Given the description of an element on the screen output the (x, y) to click on. 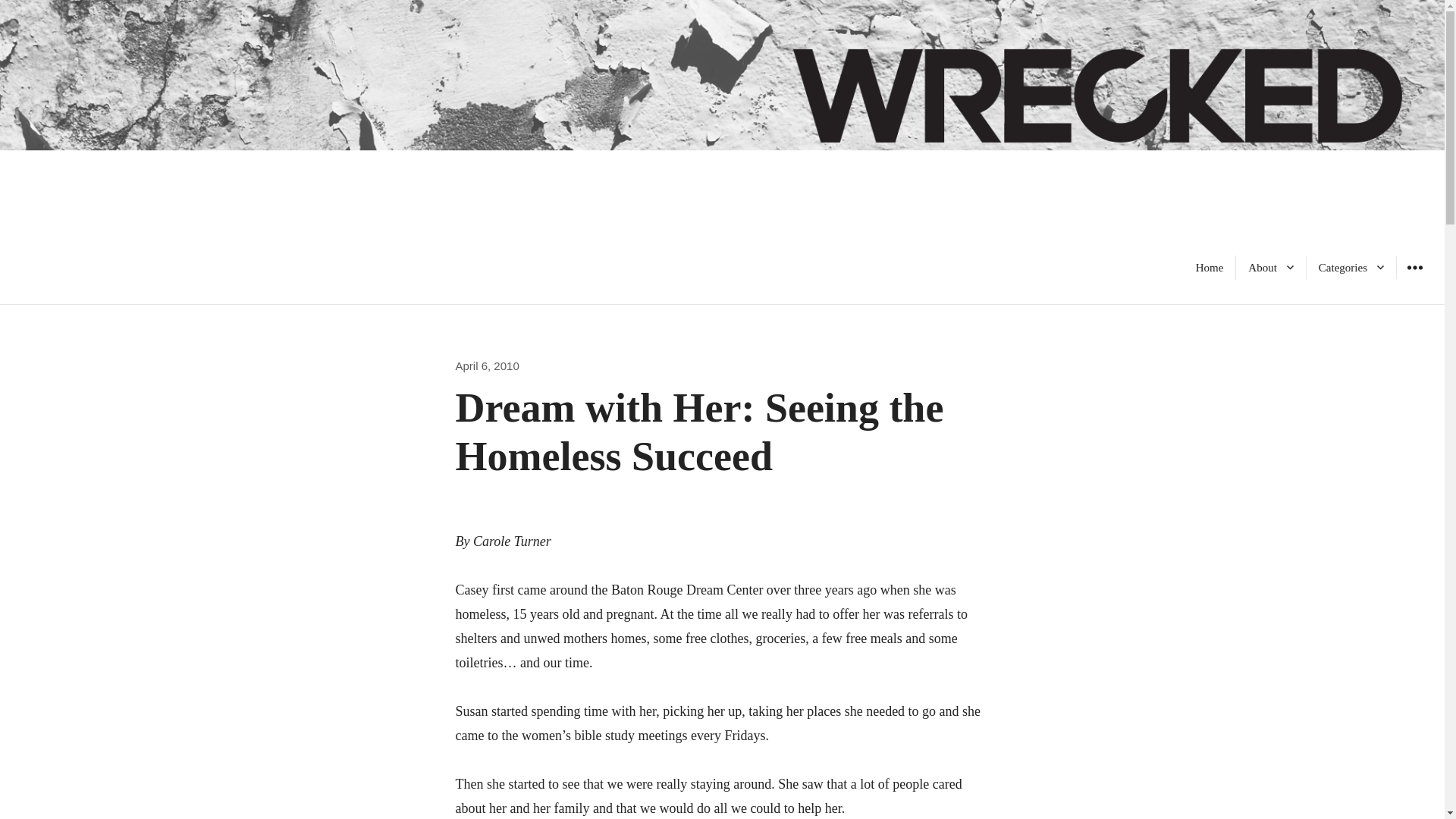
Categories (1351, 267)
April 6, 2010 (486, 365)
Home (1209, 267)
About (1271, 267)
